Given the description of an element on the screen output the (x, y) to click on. 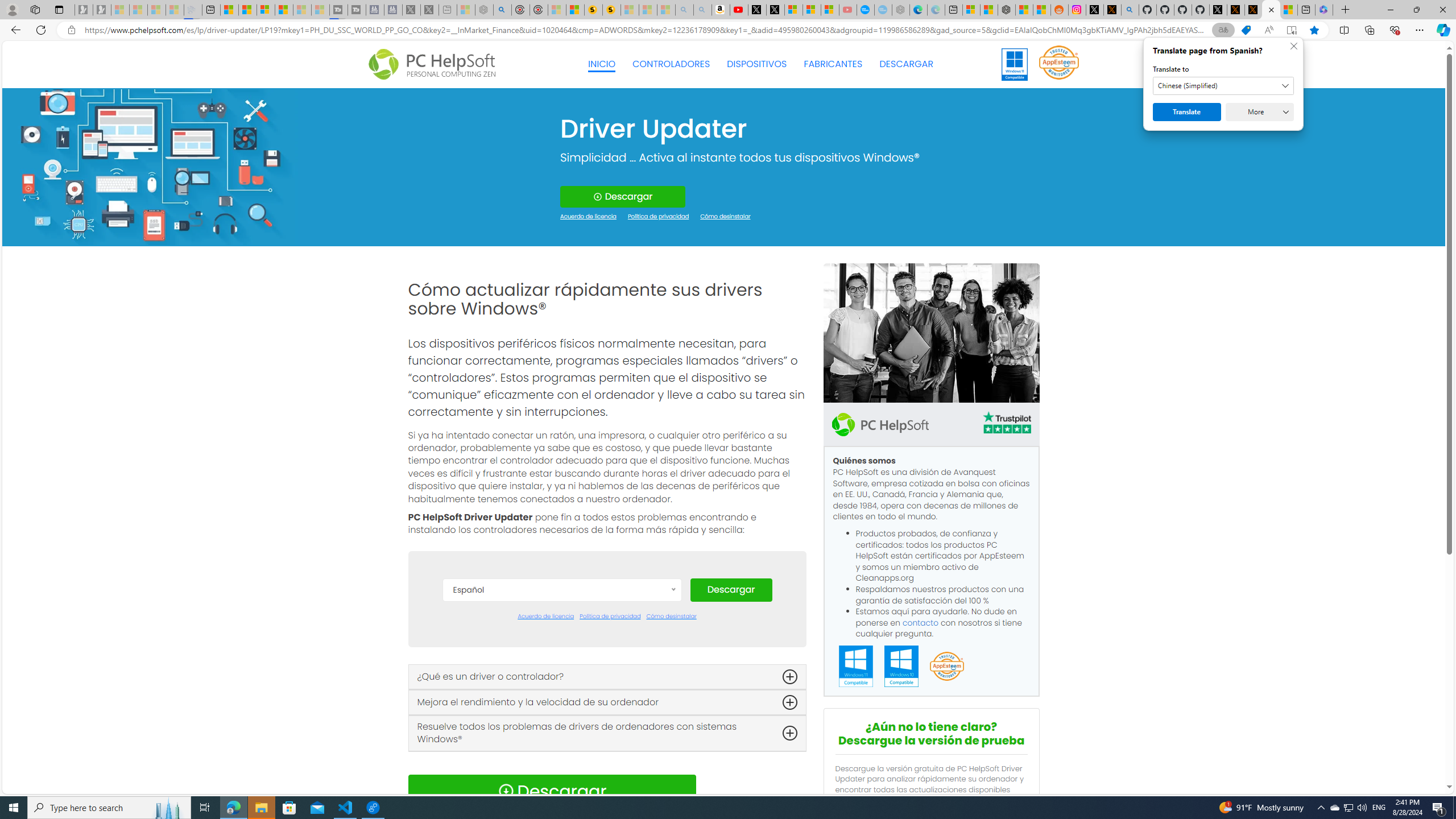
New tab - Sleeping (447, 9)
X (775, 9)
Microsoft account | Microsoft Account Privacy Settings (971, 9)
Dansk (561, 643)
Nordace - Nordace has arrived Hong Kong - Sleeping (900, 9)
DESCARGAR (906, 64)
Log in to X / X (1094, 9)
